Given the description of an element on the screen output the (x, y) to click on. 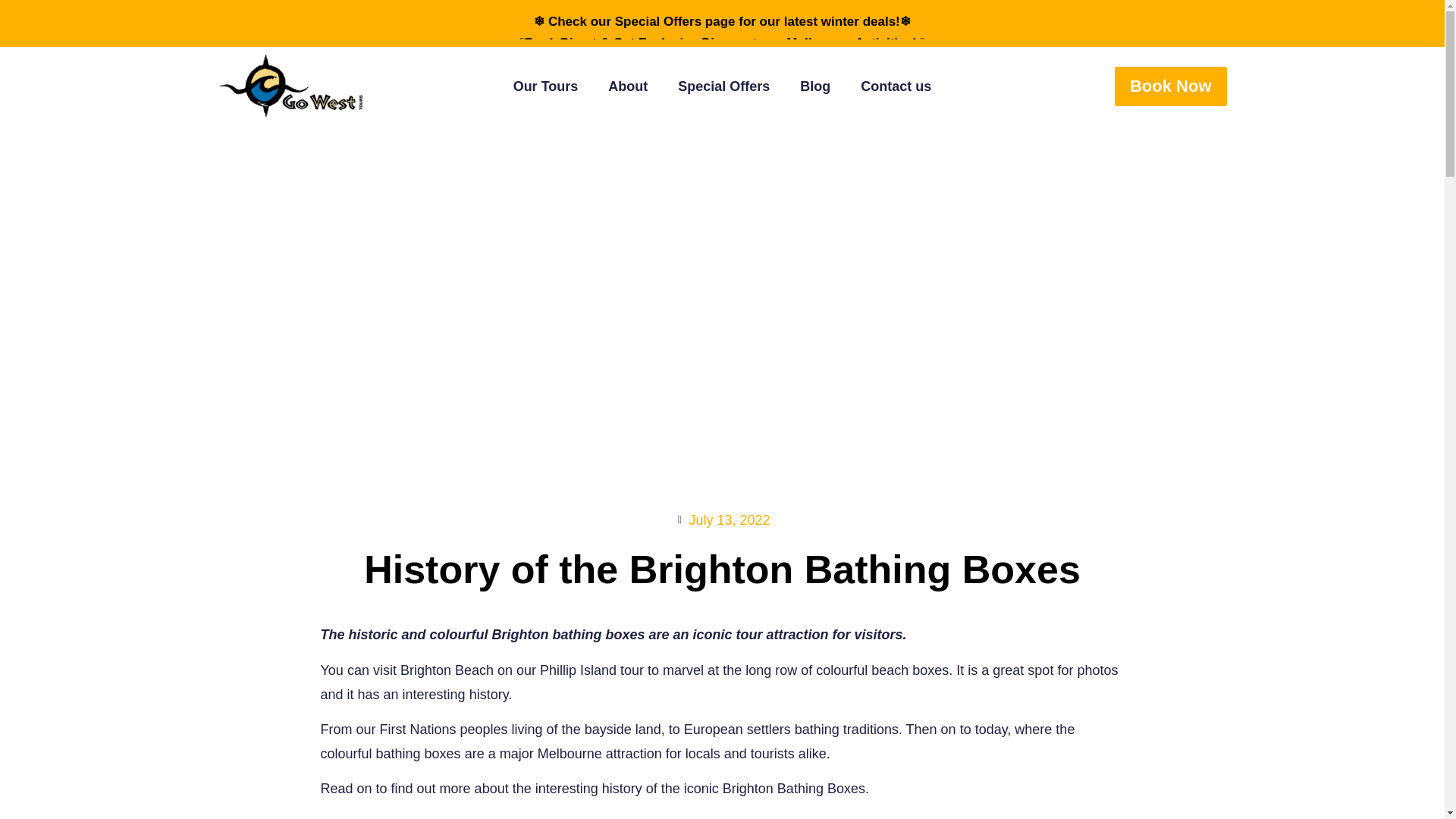
About (627, 86)
Blog (814, 86)
Our Tours (545, 86)
Special Offers (723, 86)
Contact us (895, 86)
